Given the description of an element on the screen output the (x, y) to click on. 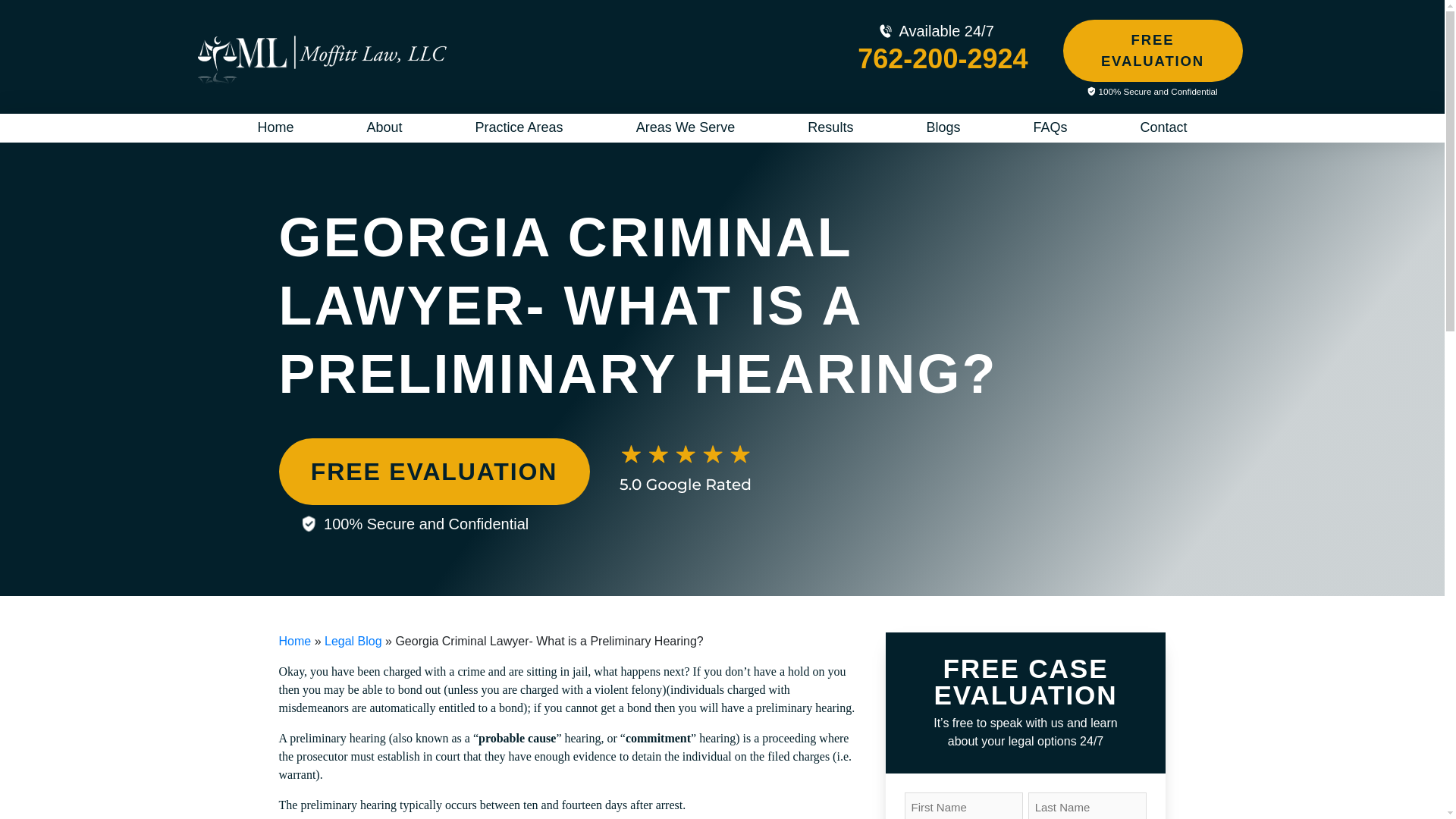
homepage (320, 58)
